Given the description of an element on the screen output the (x, y) to click on. 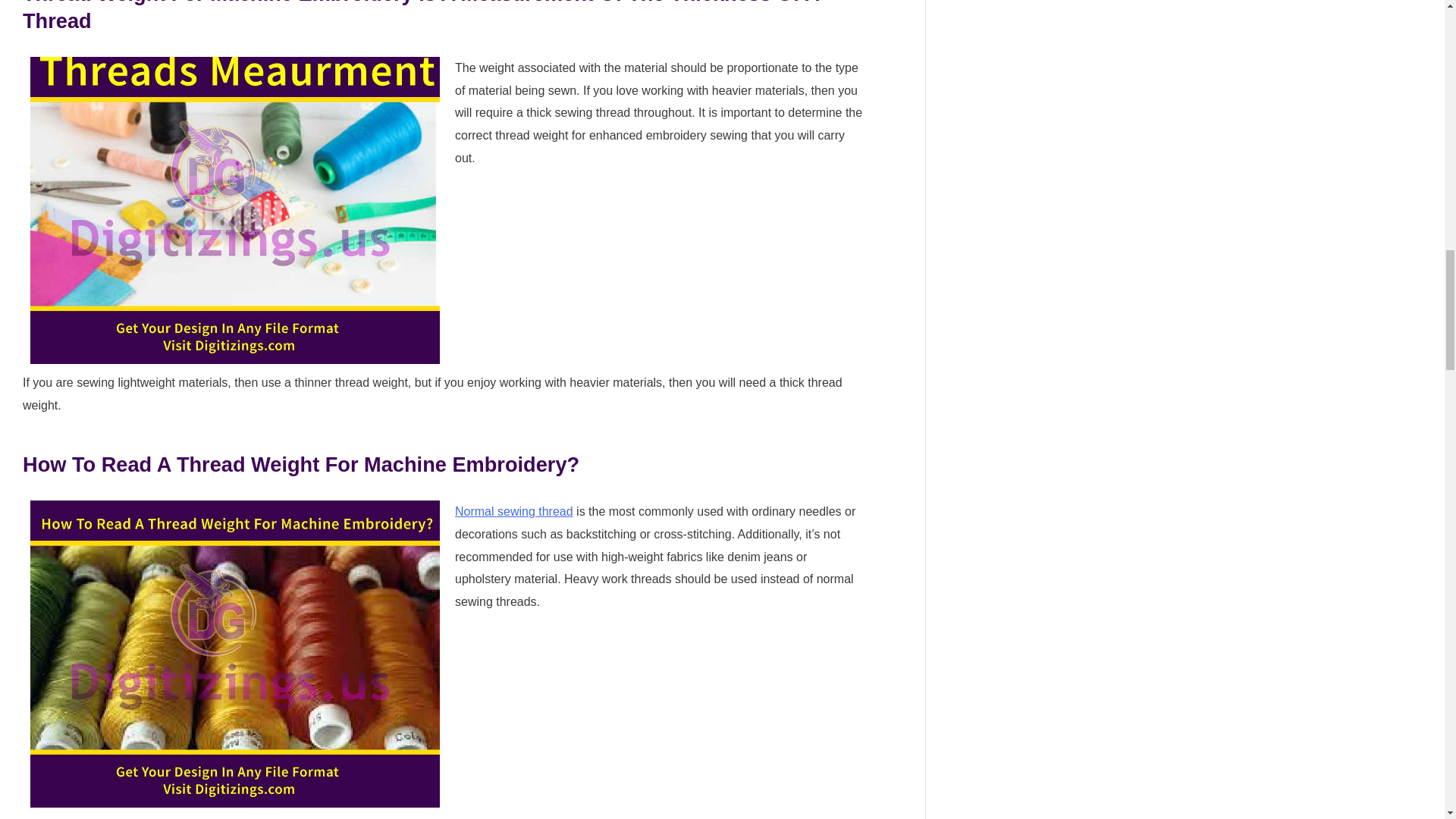
Normal sewing thread (513, 511)
